Given the description of an element on the screen output the (x, y) to click on. 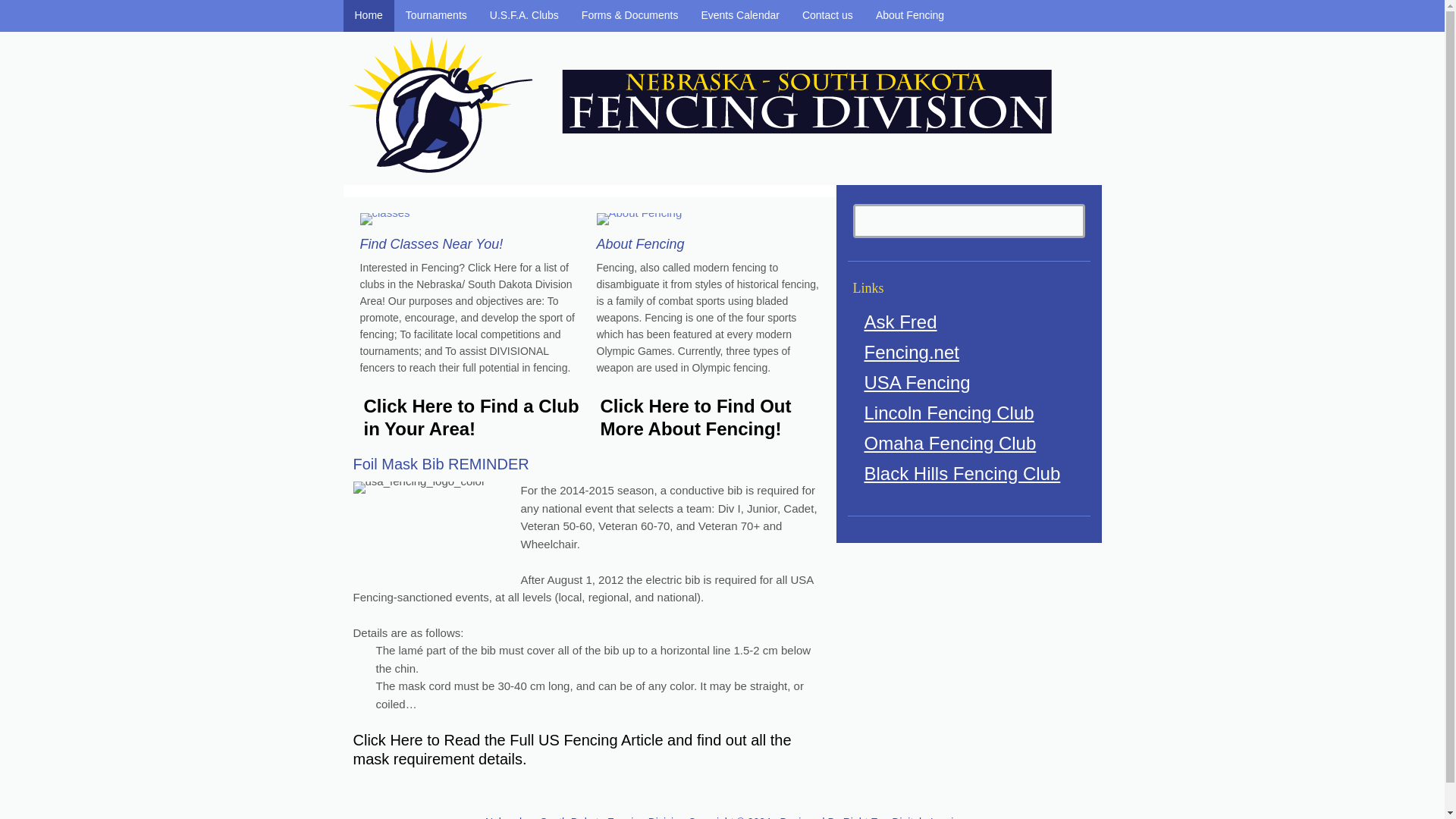
Click Here to Find Out More About Fencing! (695, 416)
Omaha Fencing Club (950, 443)
Events Calendar (739, 15)
USA Fencing (917, 382)
Contact us (827, 15)
About Fencing (639, 243)
Designed By Right Eye Digital (851, 817)
Home (367, 15)
Tournaments (436, 15)
Click Here to Find a Club in Your Area! (471, 416)
